Given the description of an element on the screen output the (x, y) to click on. 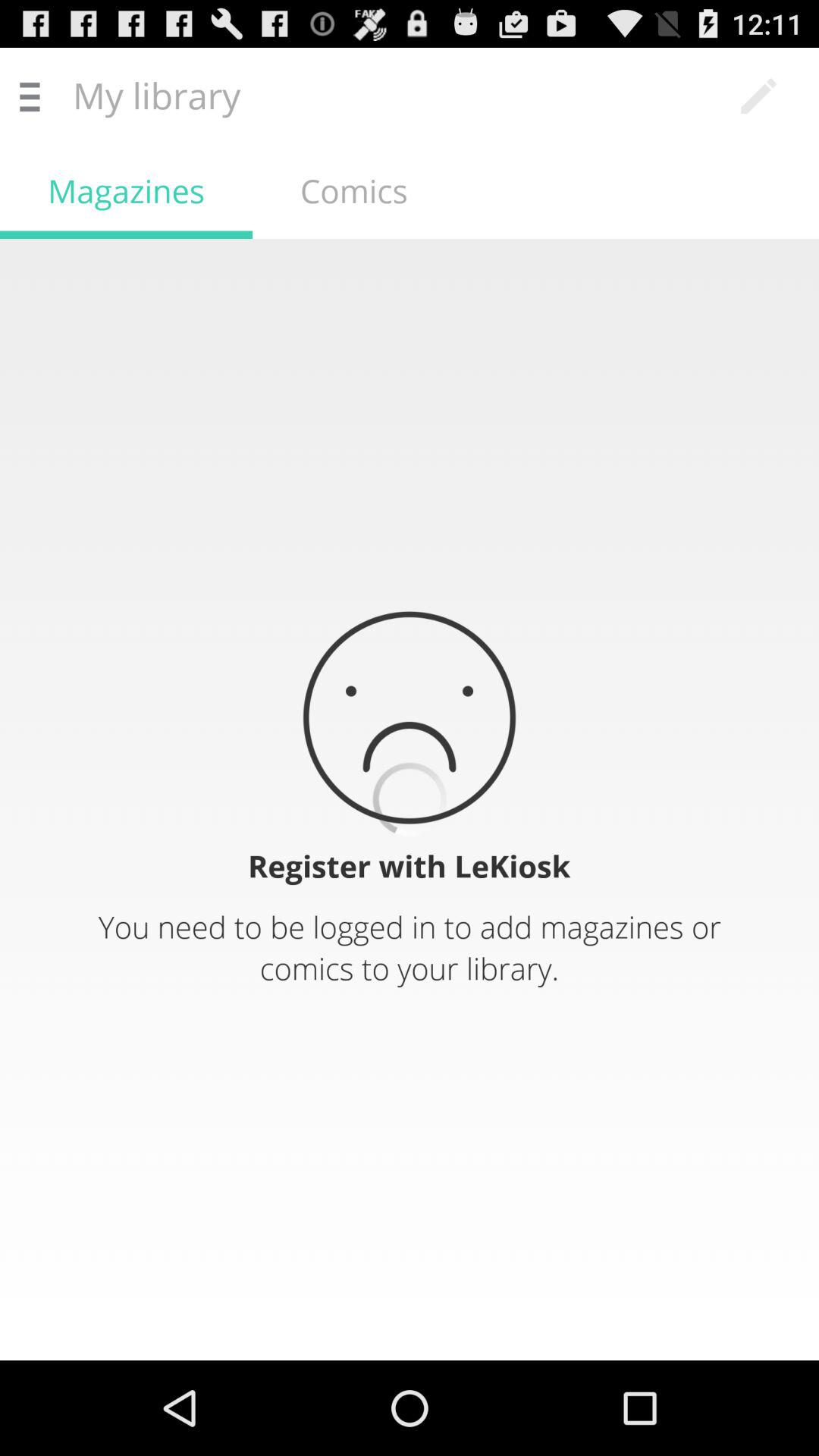
select the text comics (353, 190)
